Given the description of an element on the screen output the (x, y) to click on. 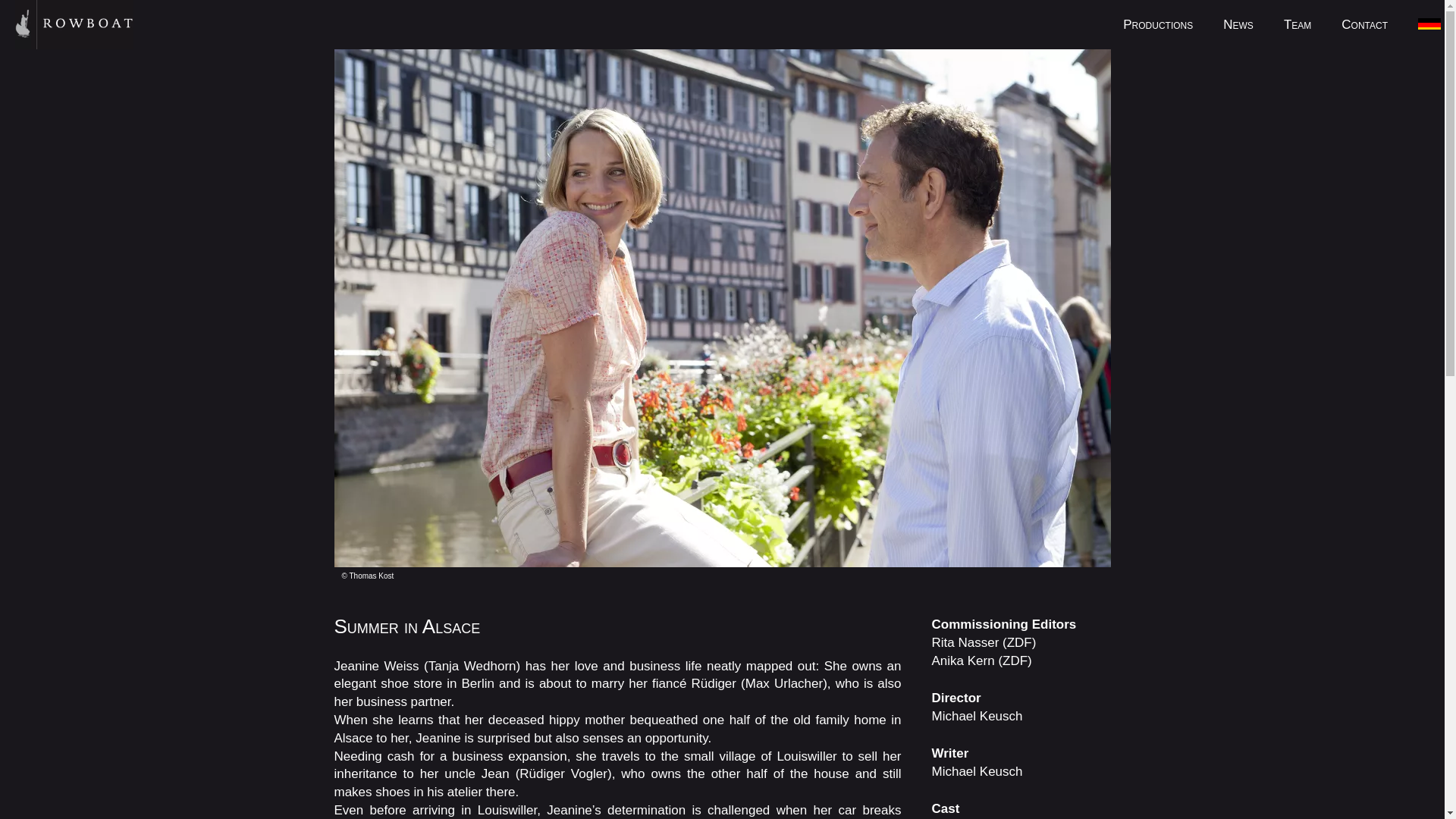
Productions (1158, 24)
DE (1429, 23)
Team (1297, 24)
Details (1429, 23)
Contact (1356, 24)
Contact (1356, 24)
News (1238, 24)
Productions (1158, 24)
Team (1297, 24)
News (1238, 24)
